Given the description of an element on the screen output the (x, y) to click on. 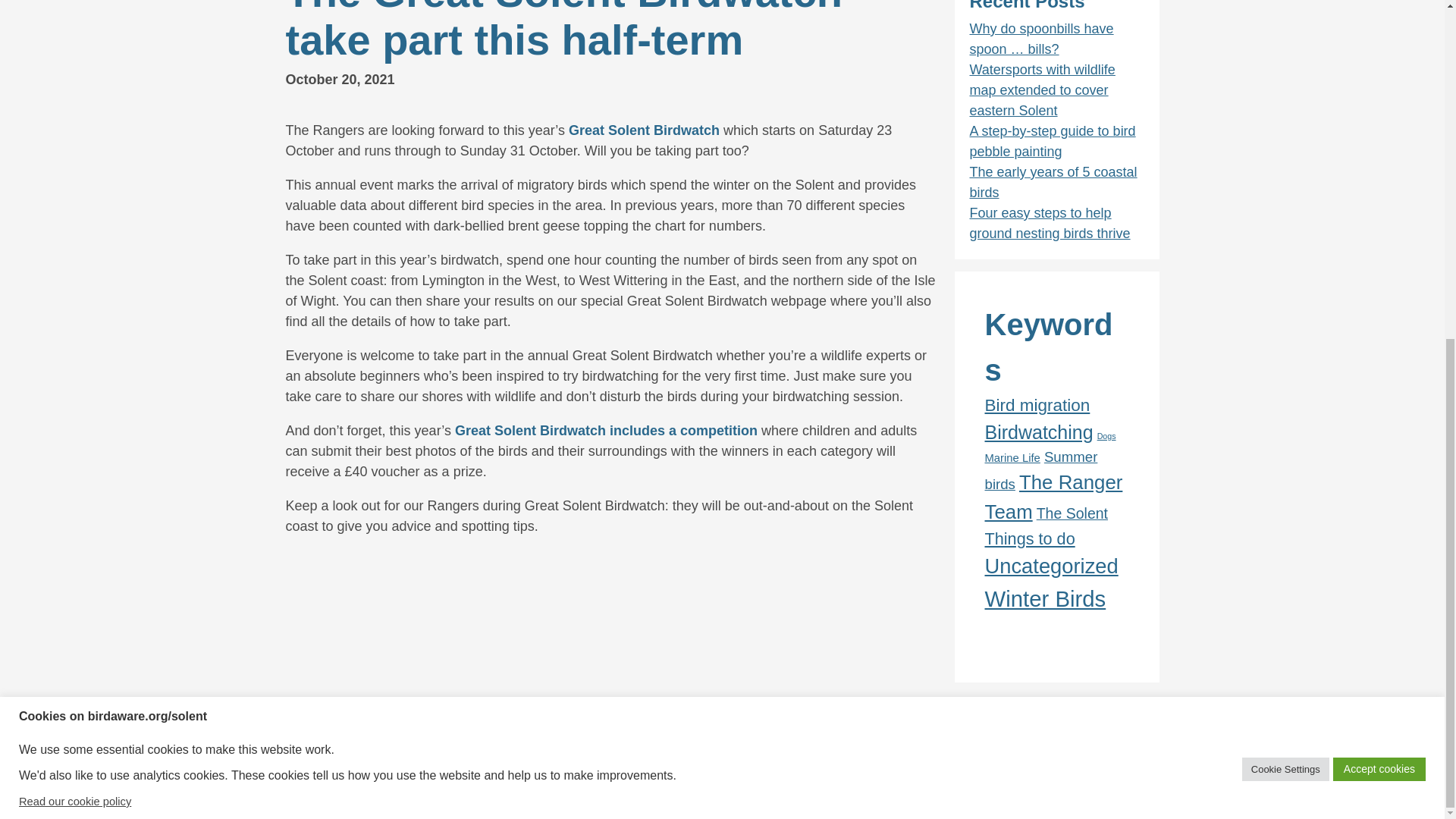
Great Solent Birdwatch (644, 130)
Great Solent Birdwatch includes a competition (605, 430)
The early years of 5 coastal birds (1053, 181)
A step-by-step guide to bird pebble painting (1052, 140)
